Given the description of an element on the screen output the (x, y) to click on. 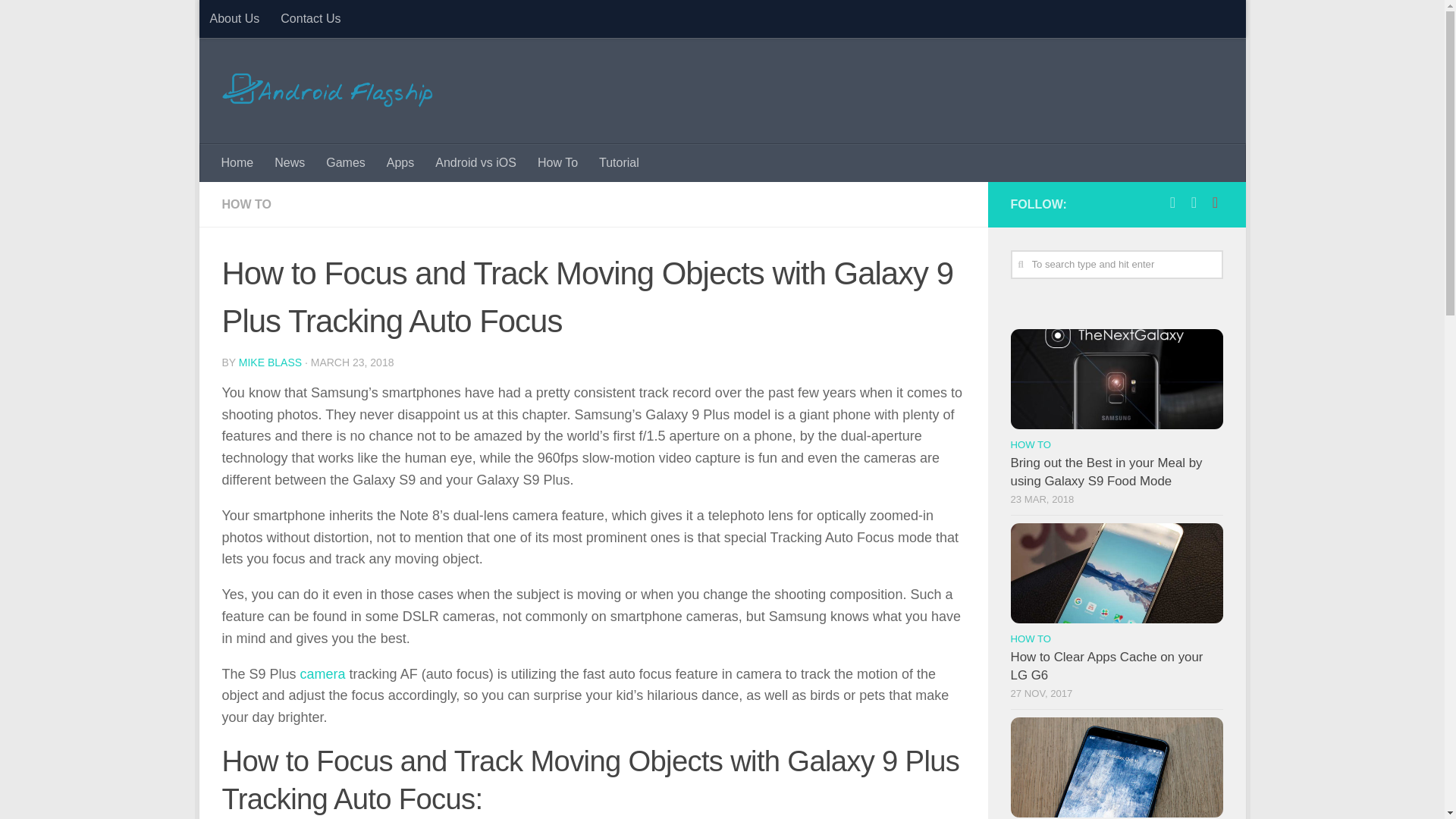
Follow us on Twitter (1193, 201)
Contact Us (309, 18)
Home (237, 162)
HOW TO (245, 204)
camera (322, 672)
Apps (400, 162)
MIKE BLASS (269, 362)
To search type and hit enter (1116, 264)
Follow us on Facebook (1171, 201)
Posts by Mike Blass (269, 362)
How To (557, 162)
Tutorial (618, 162)
Games (345, 162)
Follow us on Email-o (1215, 201)
Android vs iOS (476, 162)
